Given the description of an element on the screen output the (x, y) to click on. 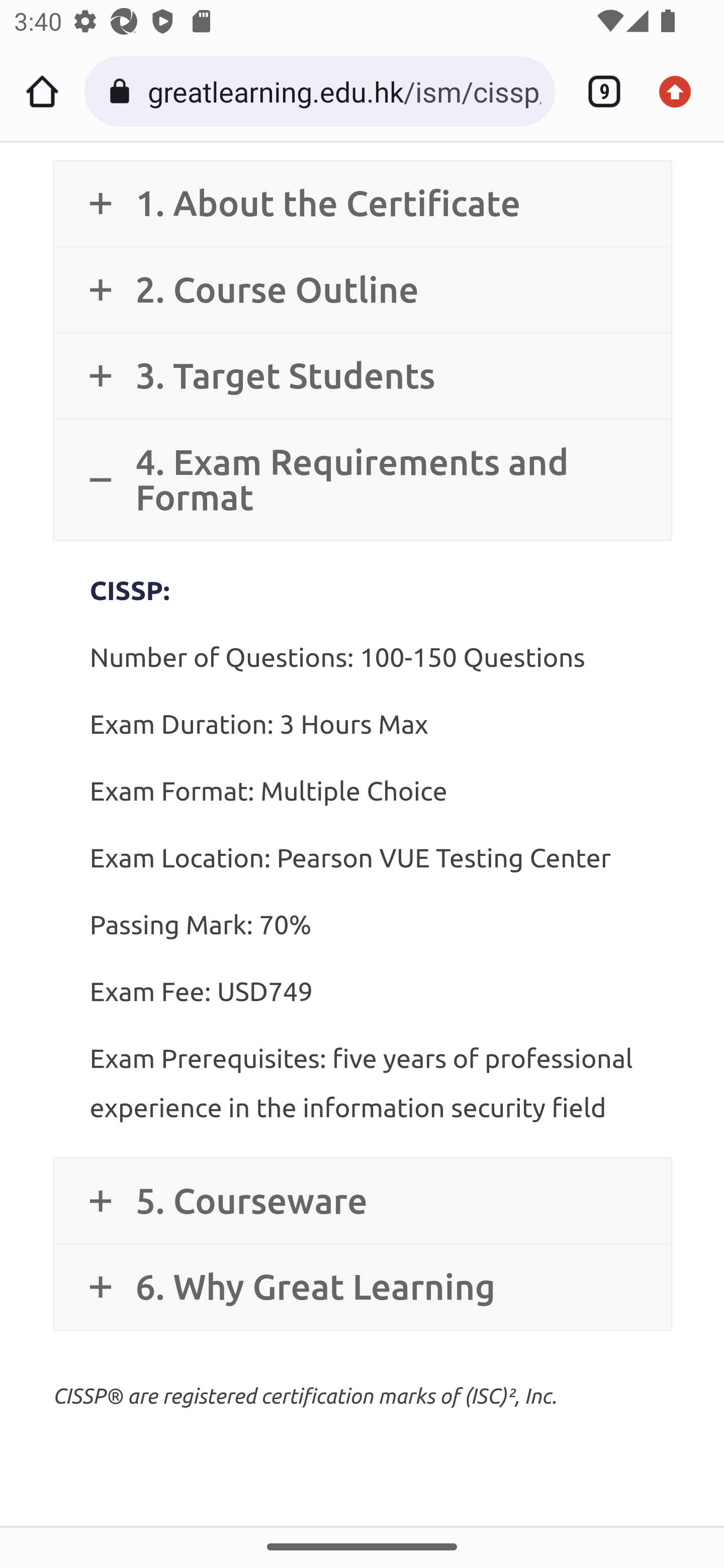
Home (42, 91)
Connection is secure (122, 91)
Switch or close tabs (597, 91)
Update available. More options (681, 91)
5. Courseware 5. Courseware 5. Courseware (361, 1200)
